Given the description of an element on the screen output the (x, y) to click on. 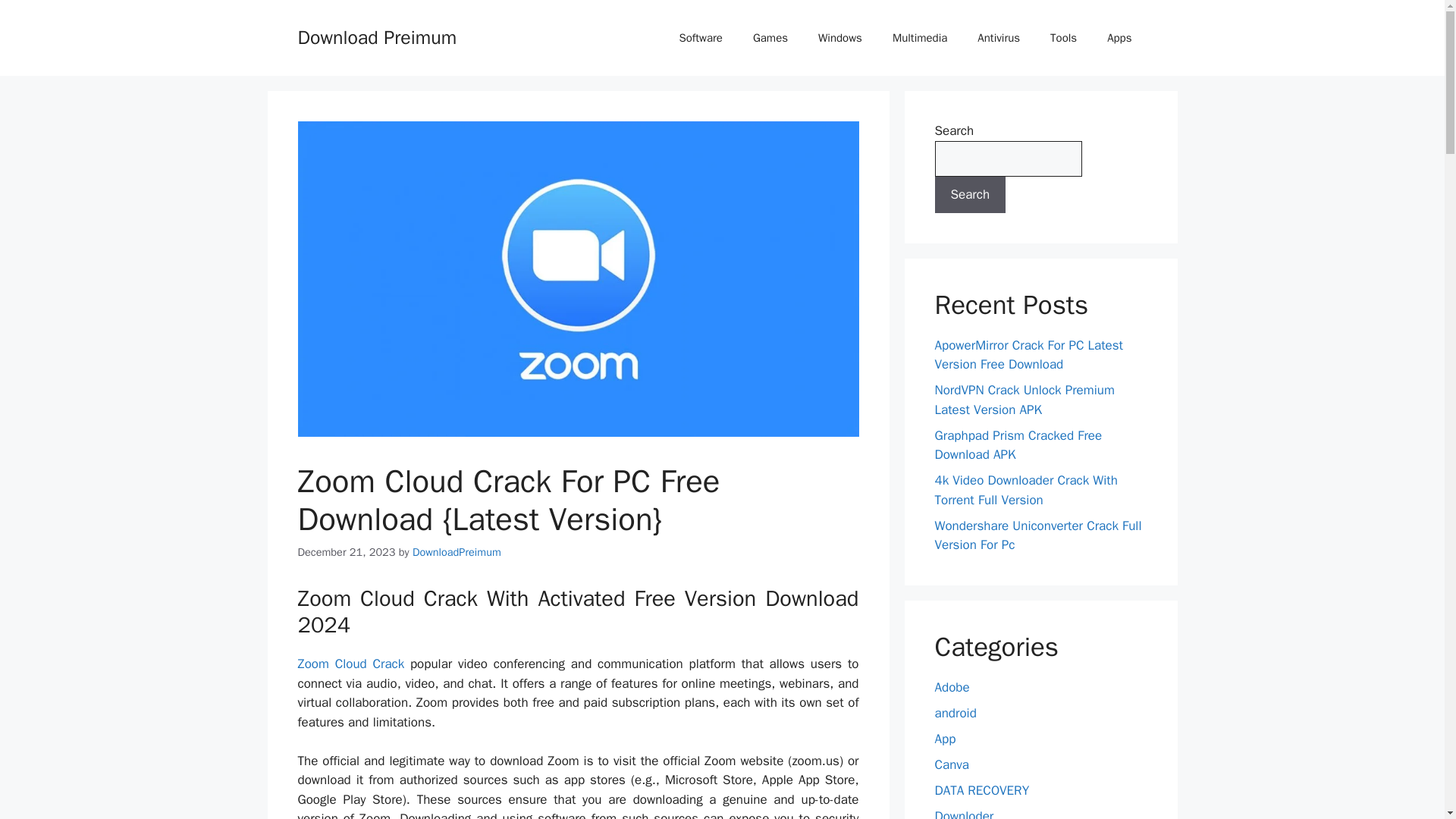
Downloder (963, 813)
Software (700, 37)
Adobe (951, 687)
android (954, 713)
App (944, 738)
Search (970, 194)
Windows (840, 37)
Download Preimum (377, 37)
DATA RECOVERY (981, 790)
Wondershare Uniconverter Crack Full Version For Pc (1037, 534)
